Given the description of an element on the screen output the (x, y) to click on. 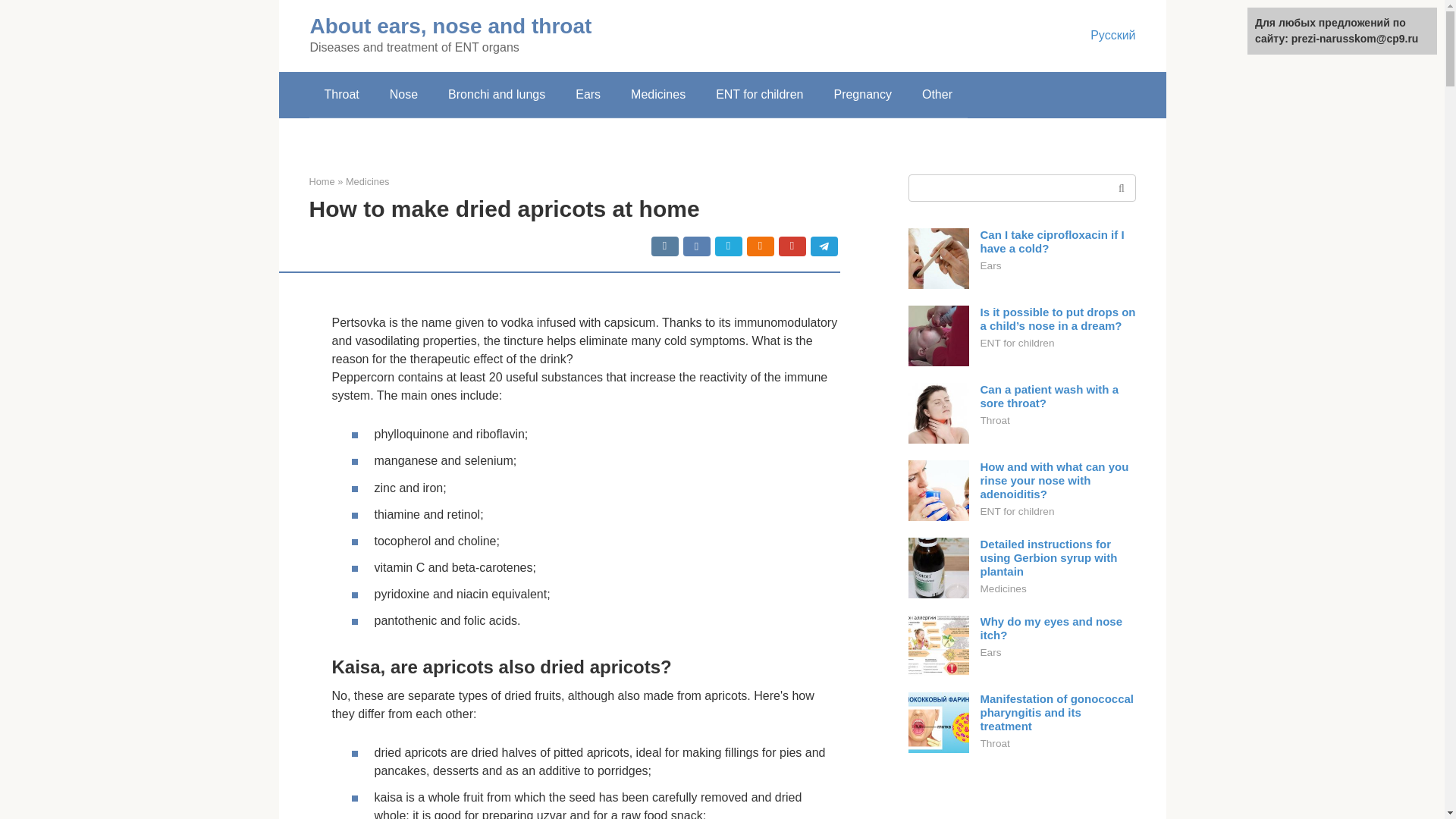
Medicines (368, 181)
Throat (341, 94)
About ears, nose and throat (449, 25)
Home (321, 181)
Bronchi and lungs (496, 94)
Pregnancy (862, 94)
ENT for children (759, 94)
Ears (587, 94)
Medicines (657, 94)
Other (937, 94)
Nose (403, 94)
